Given the description of an element on the screen output the (x, y) to click on. 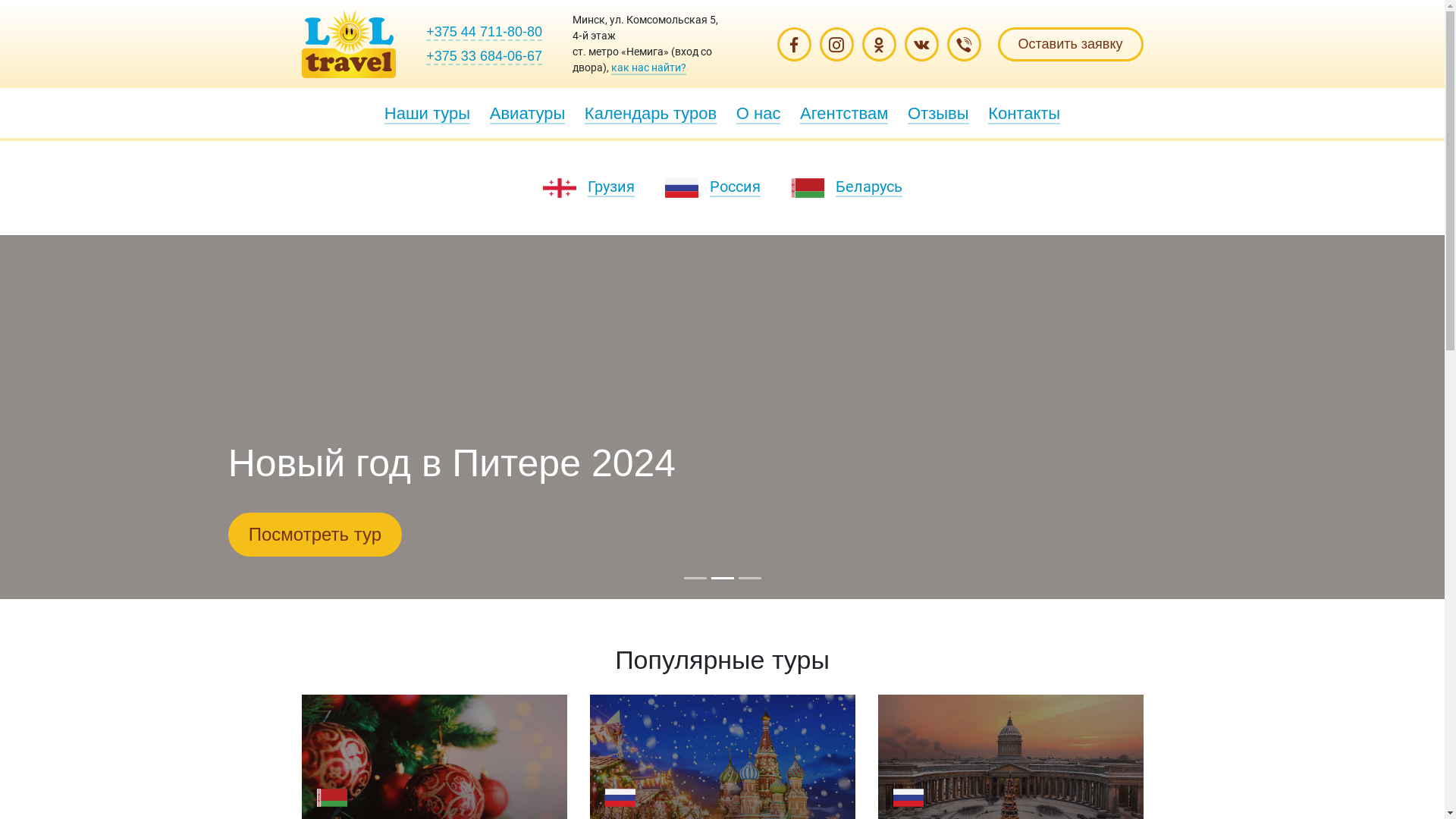
+375 33 684-06-67 Element type: text (484, 55)
+375 44 711-80-80 Element type: text (484, 31)
